Given the description of an element on the screen output the (x, y) to click on. 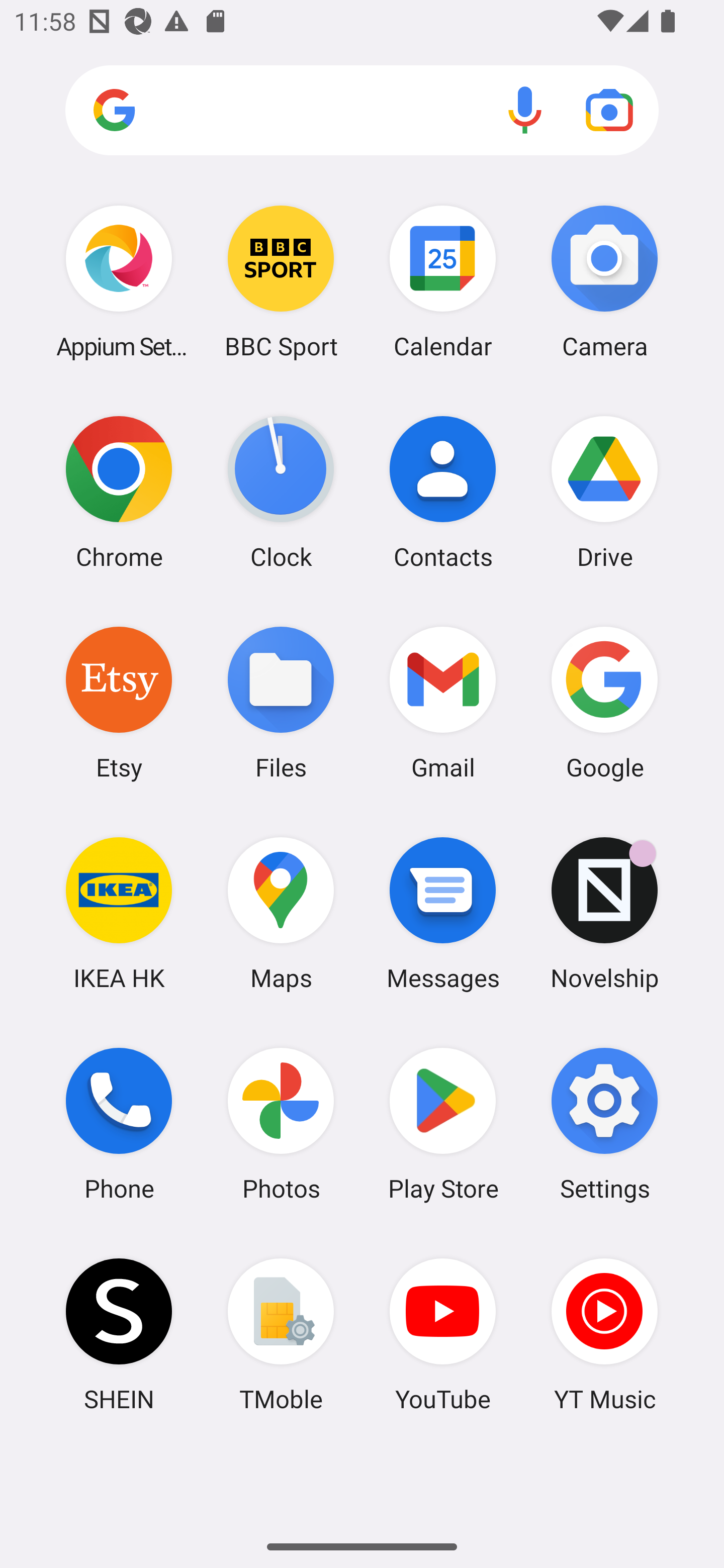
Search apps, web and more (361, 110)
Voice search (524, 109)
Google Lens (608, 109)
Appium Settings (118, 281)
BBC Sport (280, 281)
Calendar (443, 281)
Camera (604, 281)
Chrome (118, 492)
Clock (280, 492)
Contacts (443, 492)
Drive (604, 492)
Etsy (118, 702)
Files (280, 702)
Gmail (443, 702)
Google (604, 702)
IKEA HK (118, 913)
Maps (280, 913)
Messages (443, 913)
Novelship Novelship has 7 notifications (604, 913)
Phone (118, 1124)
Photos (280, 1124)
Play Store (443, 1124)
Settings (604, 1124)
SHEIN (118, 1334)
TMoble (280, 1334)
YouTube (443, 1334)
YT Music (604, 1334)
